Given the description of an element on the screen output the (x, y) to click on. 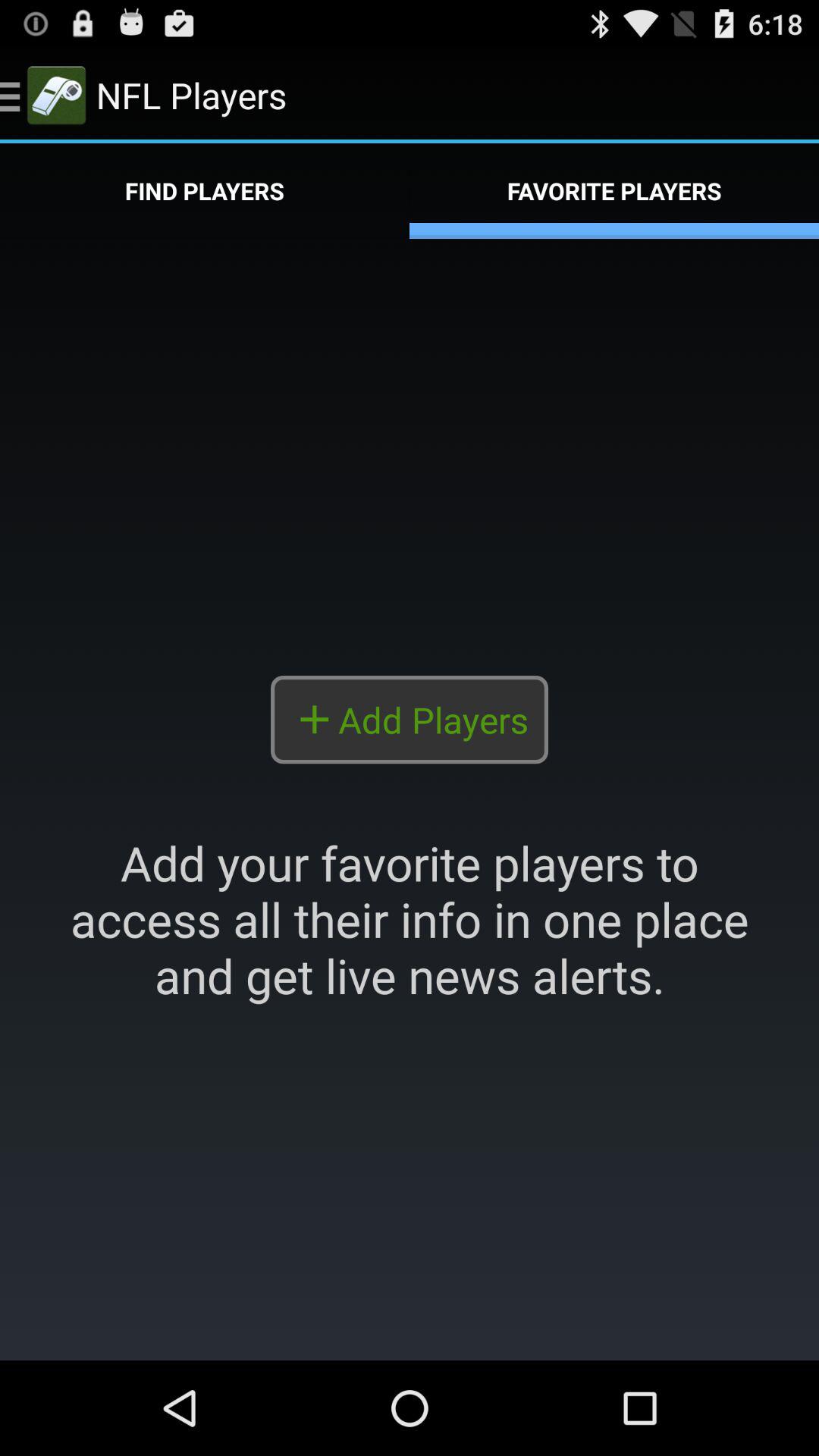
turn off find players app (204, 190)
